Given the description of an element on the screen output the (x, y) to click on. 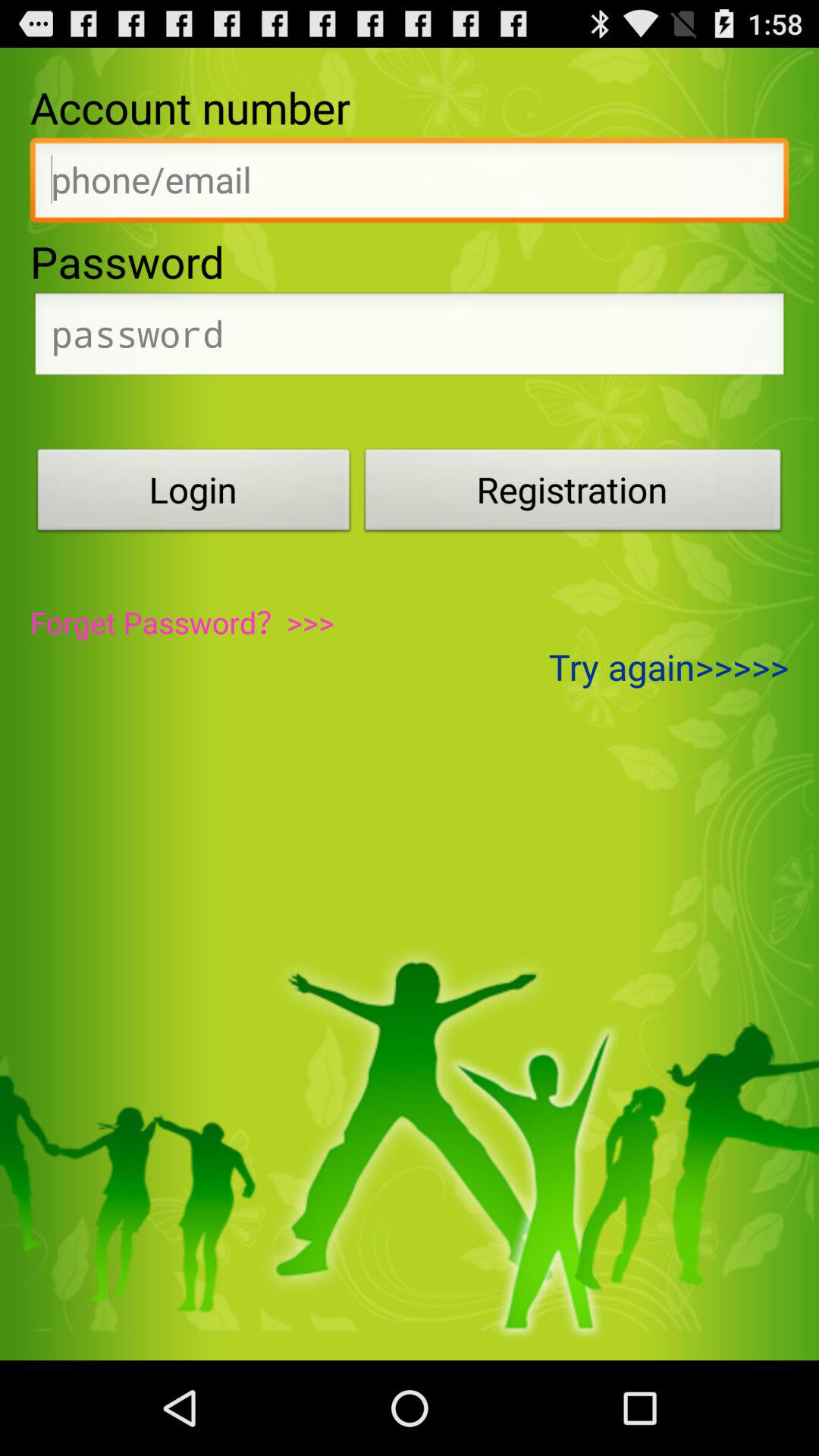
enter password (409, 338)
